Given the description of an element on the screen output the (x, y) to click on. 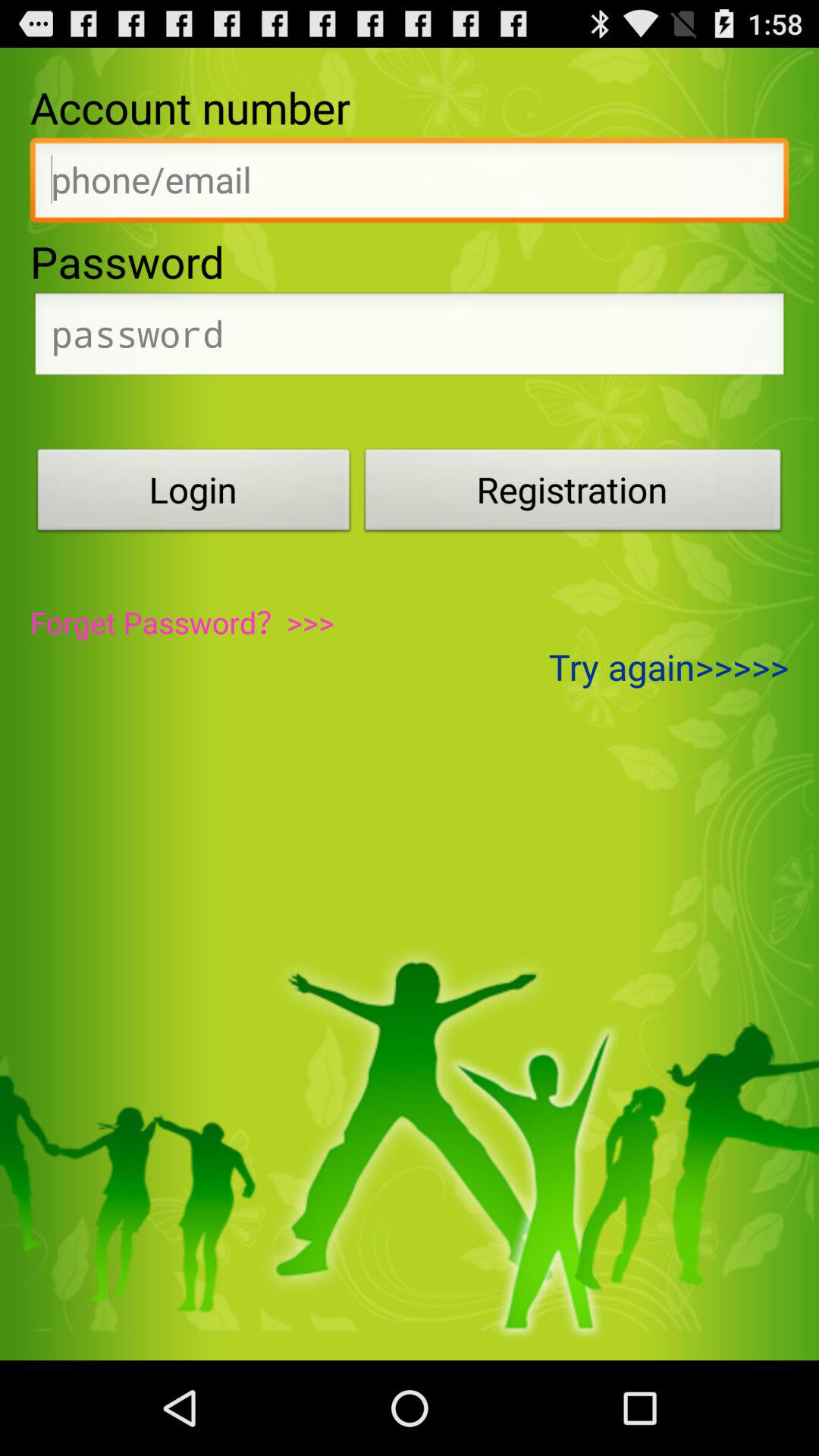
enter password (409, 338)
